Given the description of an element on the screen output the (x, y) to click on. 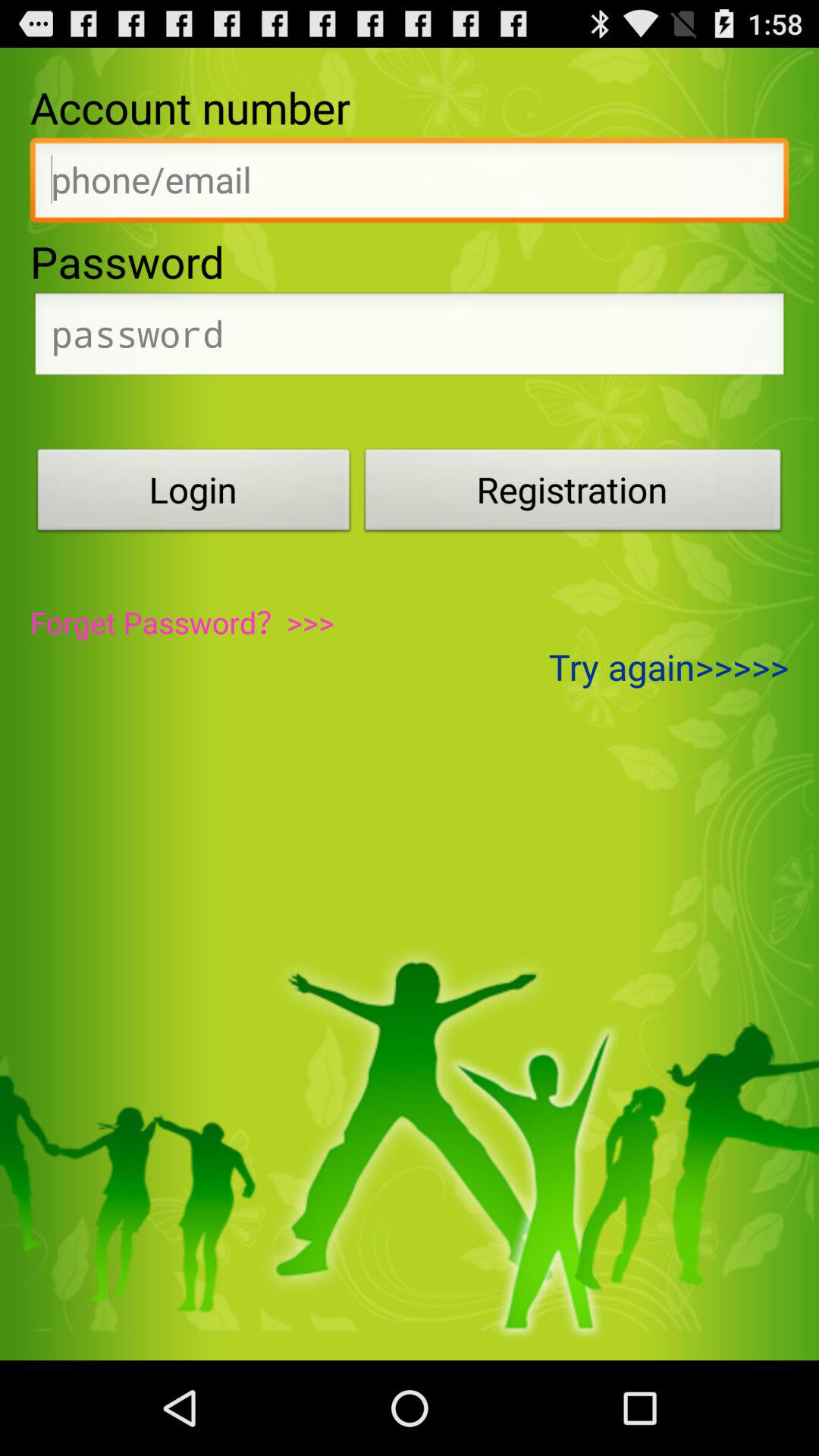
enter password (409, 338)
